Given the description of an element on the screen output the (x, y) to click on. 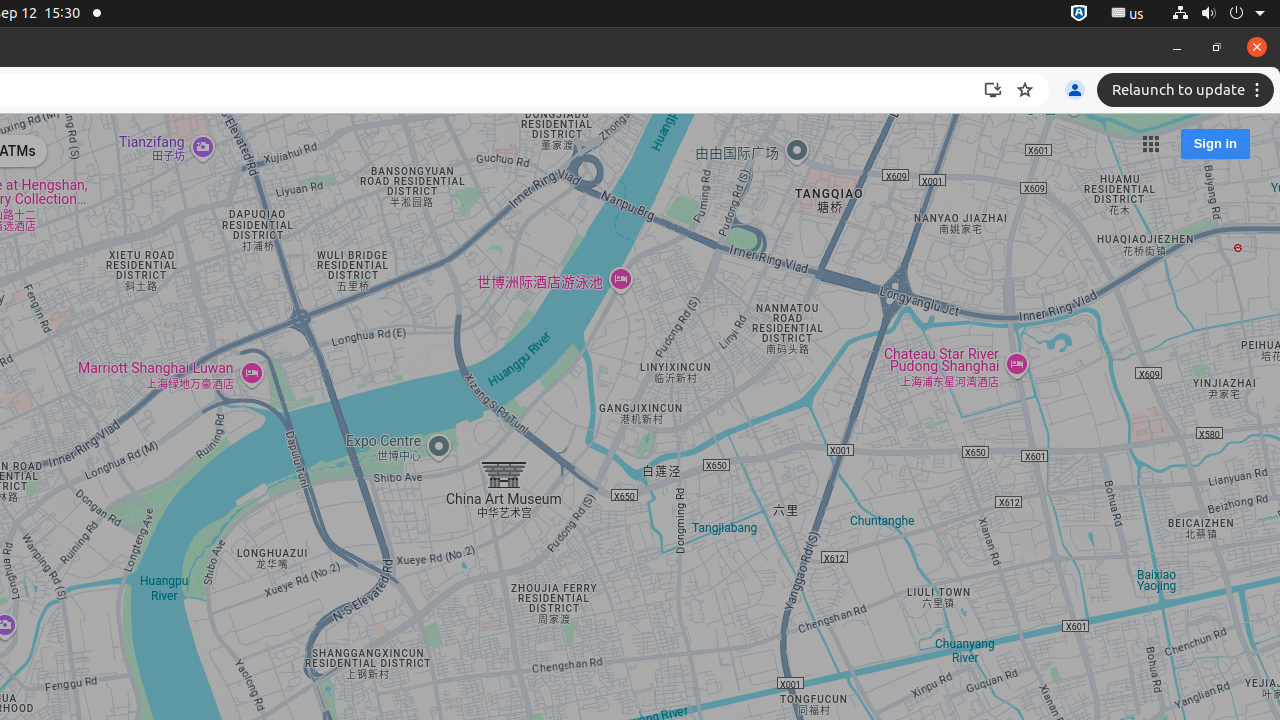
Install Google Maps Element type: push-button (993, 90)
Sign in Element type: link (1215, 143)
Bookmark this tab Element type: push-button (1025, 90)
Google apps Element type: push-button (1150, 143)
